Given the description of an element on the screen output the (x, y) to click on. 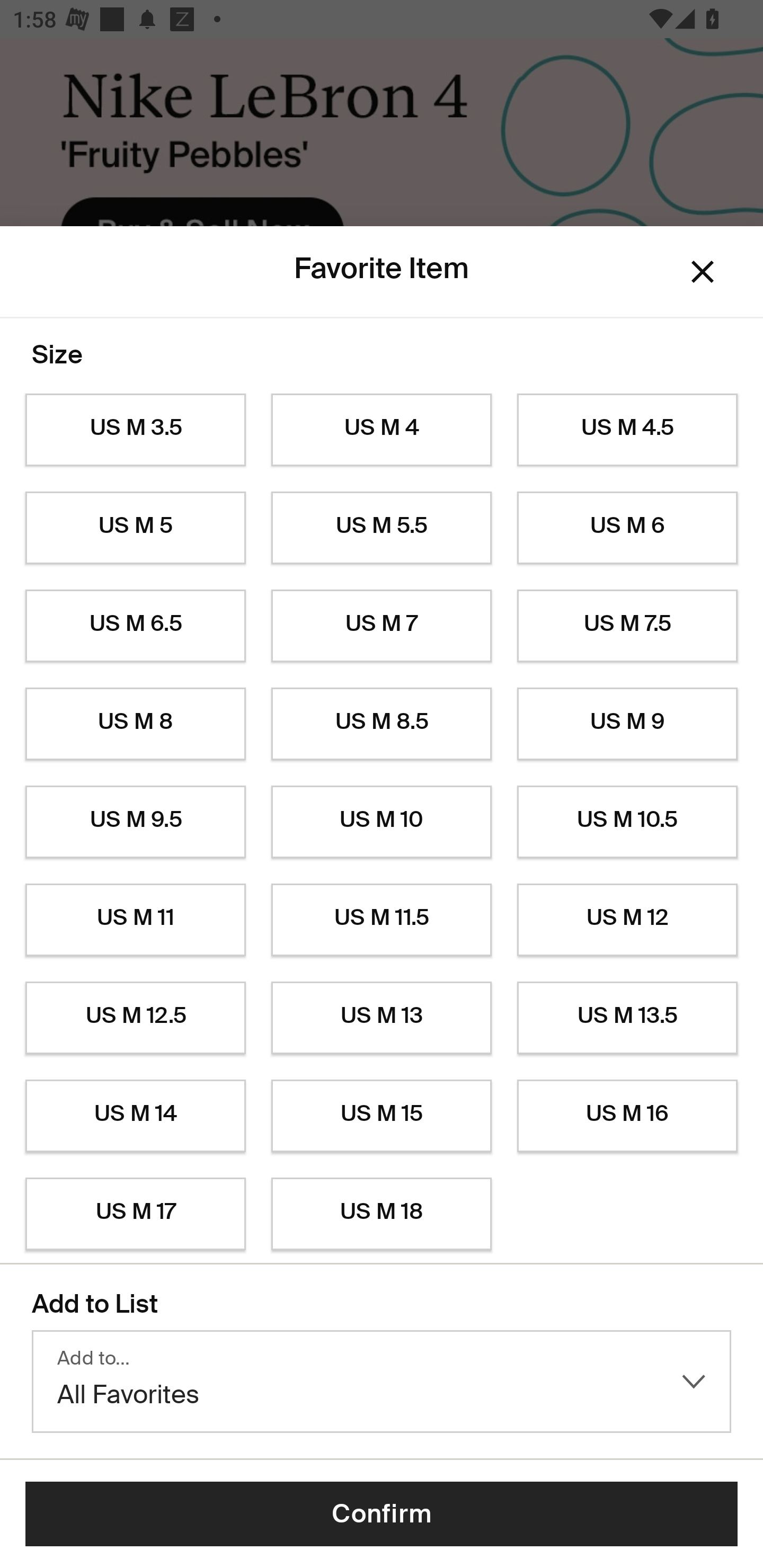
Dismiss (702, 271)
US M 3.5 (135, 430)
US M 4 (381, 430)
US M 4.5 (627, 430)
US M 5 (135, 527)
US M 5.5 (381, 527)
US M 6 (627, 527)
US M 6.5 (135, 626)
US M 7 (381, 626)
US M 7.5 (627, 626)
US M 8 (135, 724)
US M 8.5 (381, 724)
US M 9 (627, 724)
US M 9.5 (135, 822)
US M 10 (381, 822)
US M 10.5 (627, 822)
US M 11 (135, 919)
US M 11.5 (381, 919)
US M 12 (627, 919)
US M 12.5 (135, 1018)
US M 13 (381, 1018)
US M 13.5 (627, 1018)
US M 14 (135, 1116)
US M 15 (381, 1116)
US M 16 (627, 1116)
US M 17 (135, 1214)
US M 18 (381, 1214)
Add to… All Favorites (381, 1381)
Confirm (381, 1513)
